Given the description of an element on the screen output the (x, y) to click on. 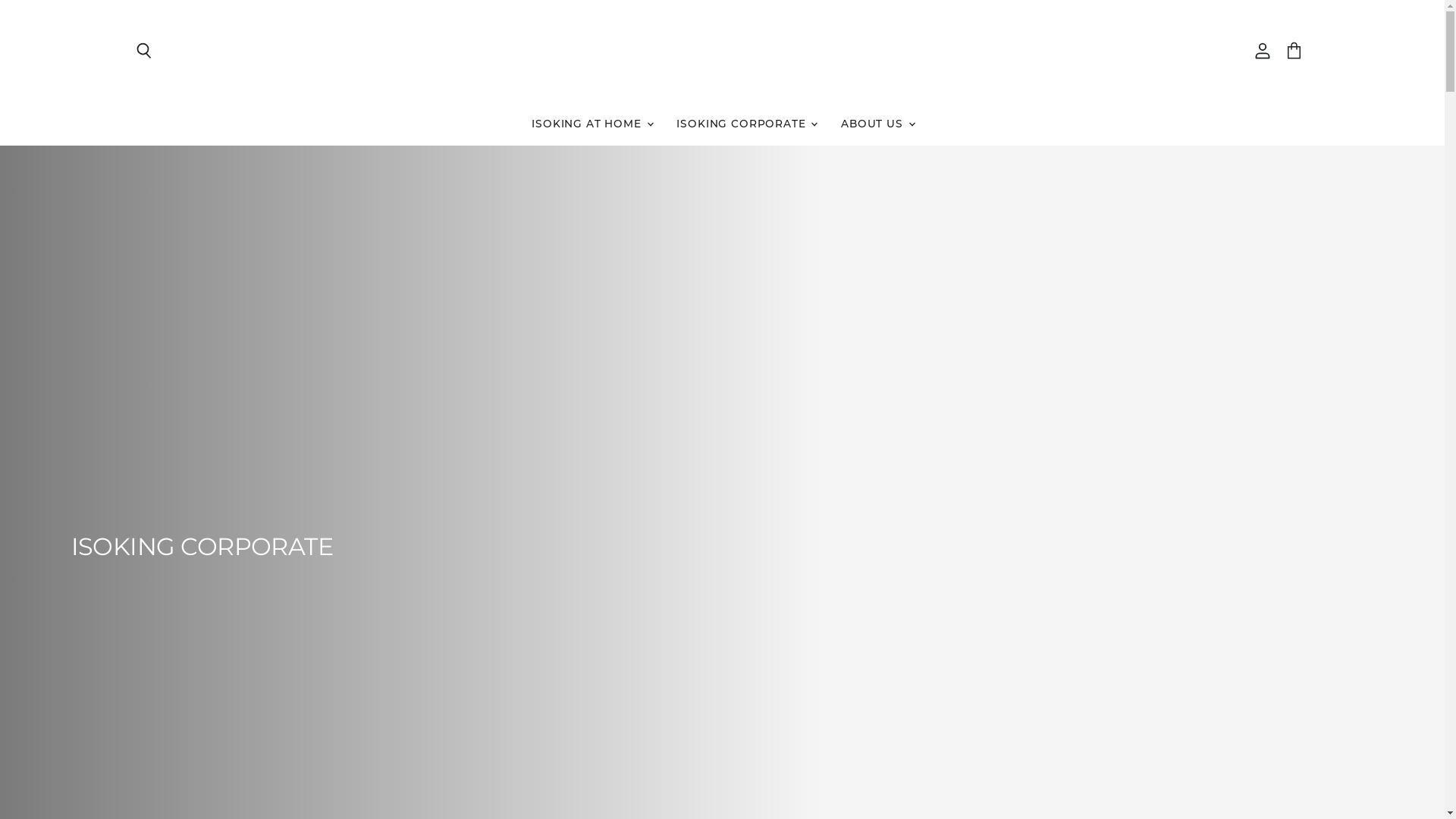
ISOKING CORPORATE Element type: text (745, 123)
ISOKING AT HOME Element type: text (591, 123)
IsoKing Element type: text (721, 51)
ISOKING CORPORATE Element type: text (468, 546)
View cart Element type: text (1293, 50)
Search Element type: text (143, 50)
View account Element type: text (1262, 50)
ABOUT US Element type: text (876, 123)
